Given the description of an element on the screen output the (x, y) to click on. 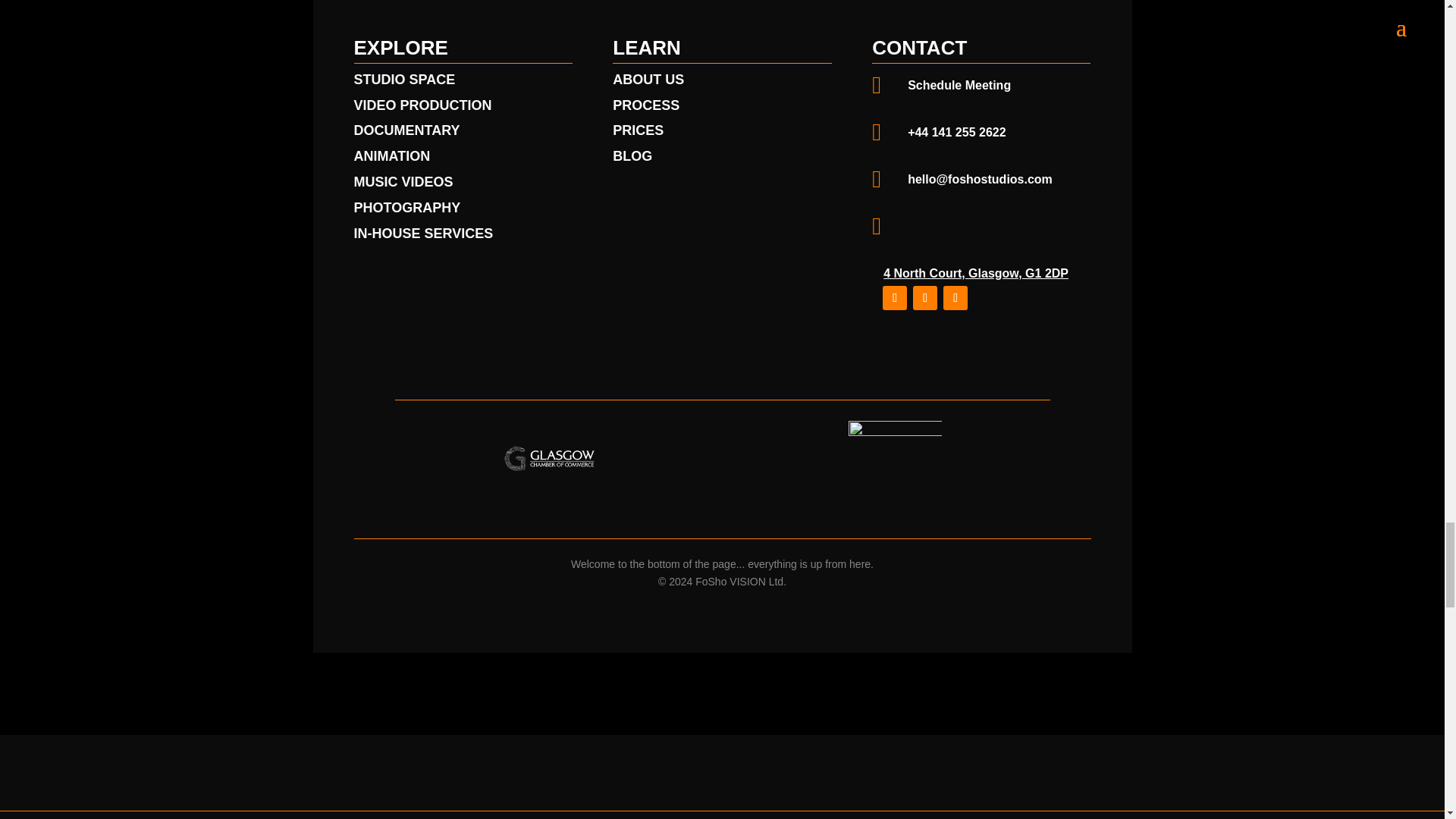
Follow on Youtube (924, 297)
Glasgow Chamber of Commerce Logo (548, 458)
EXPLORE (399, 47)
Follow on Instagram (894, 297)
Follow on LinkedIn (955, 297)
